Given the description of an element on the screen output the (x, y) to click on. 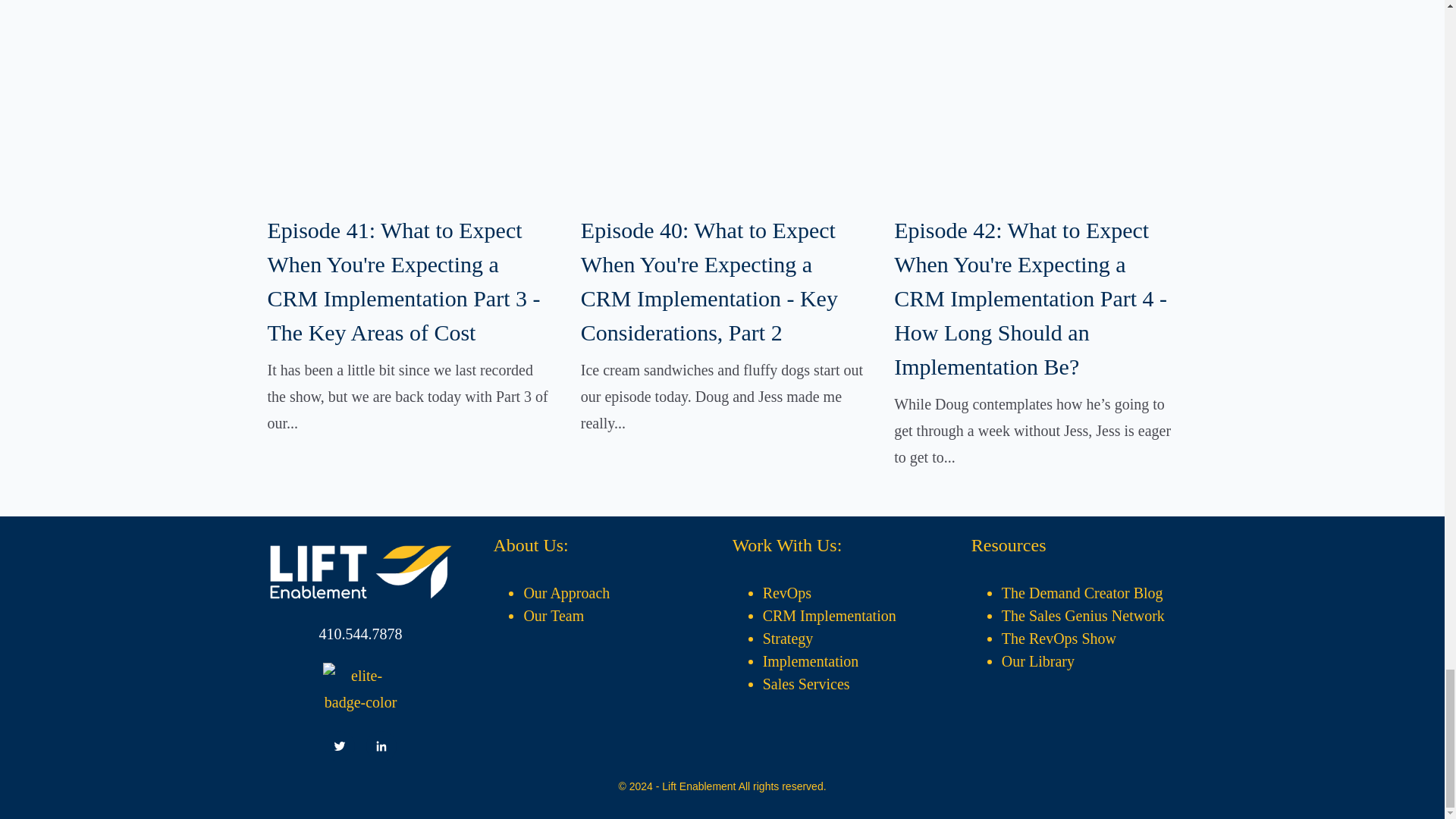
LiftEnablement - Logo - Reverse (359, 571)
